Given the description of an element on the screen output the (x, y) to click on. 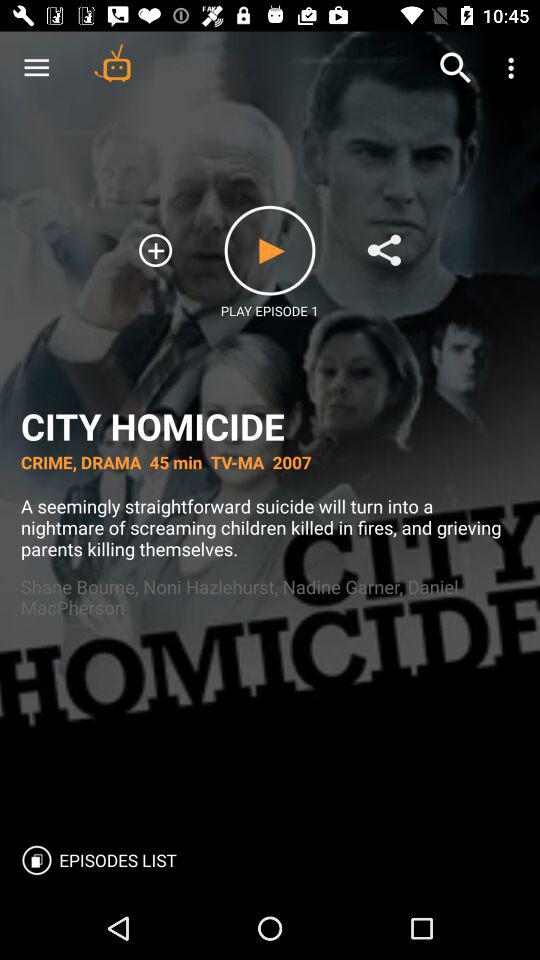
condivide the link (383, 250)
